Given the description of an element on the screen output the (x, y) to click on. 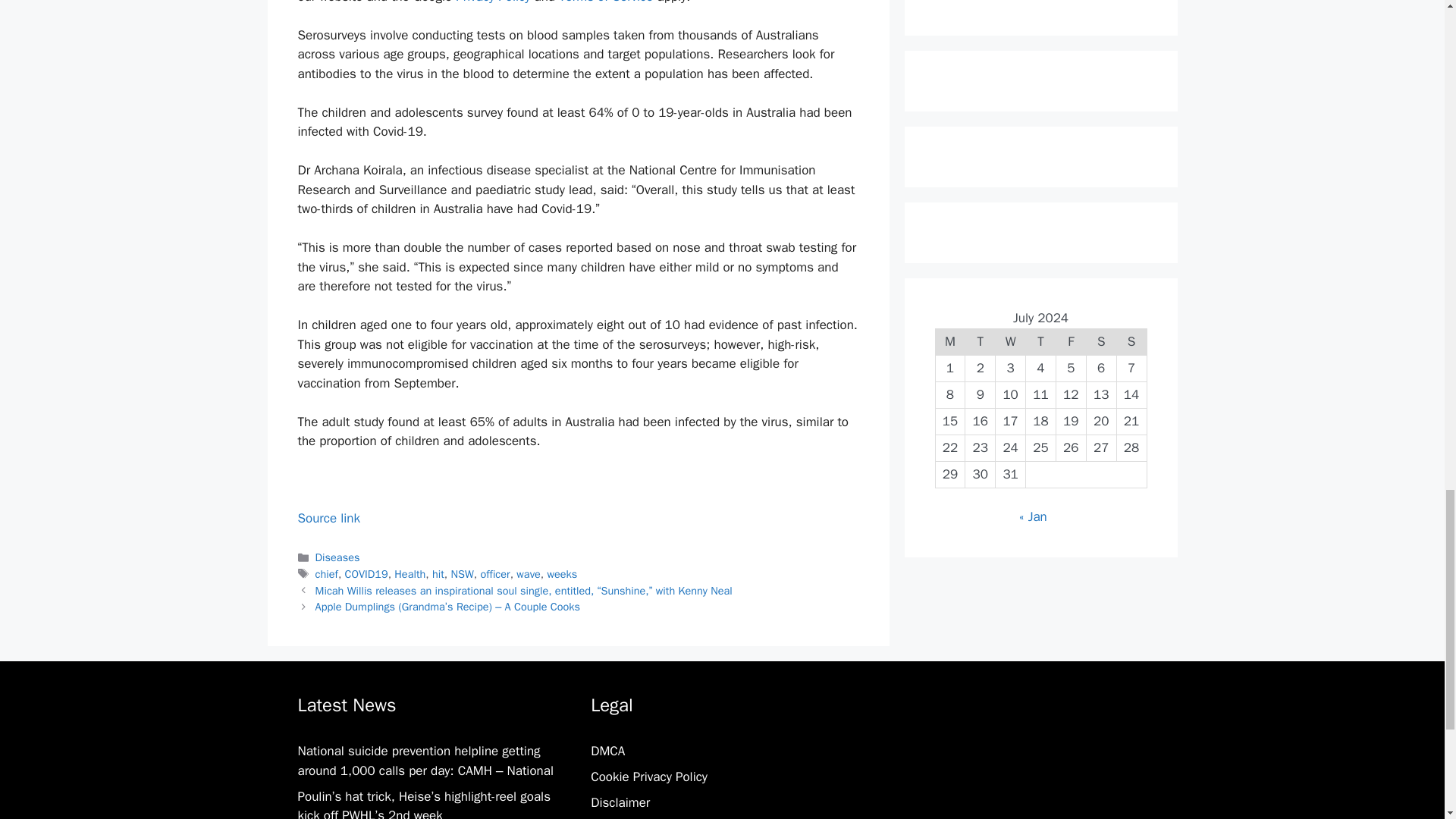
NSW (461, 573)
Thursday (1041, 341)
chief (326, 573)
weeks (561, 573)
Friday (1070, 341)
Monday (949, 341)
Privacy Policy (492, 2)
Sunday (1131, 341)
Source link (328, 518)
officer (494, 573)
Terms of Service (605, 2)
Tuesday (980, 341)
wave (528, 573)
COVID19 (366, 573)
Wednesday (1010, 341)
